Given the description of an element on the screen output the (x, y) to click on. 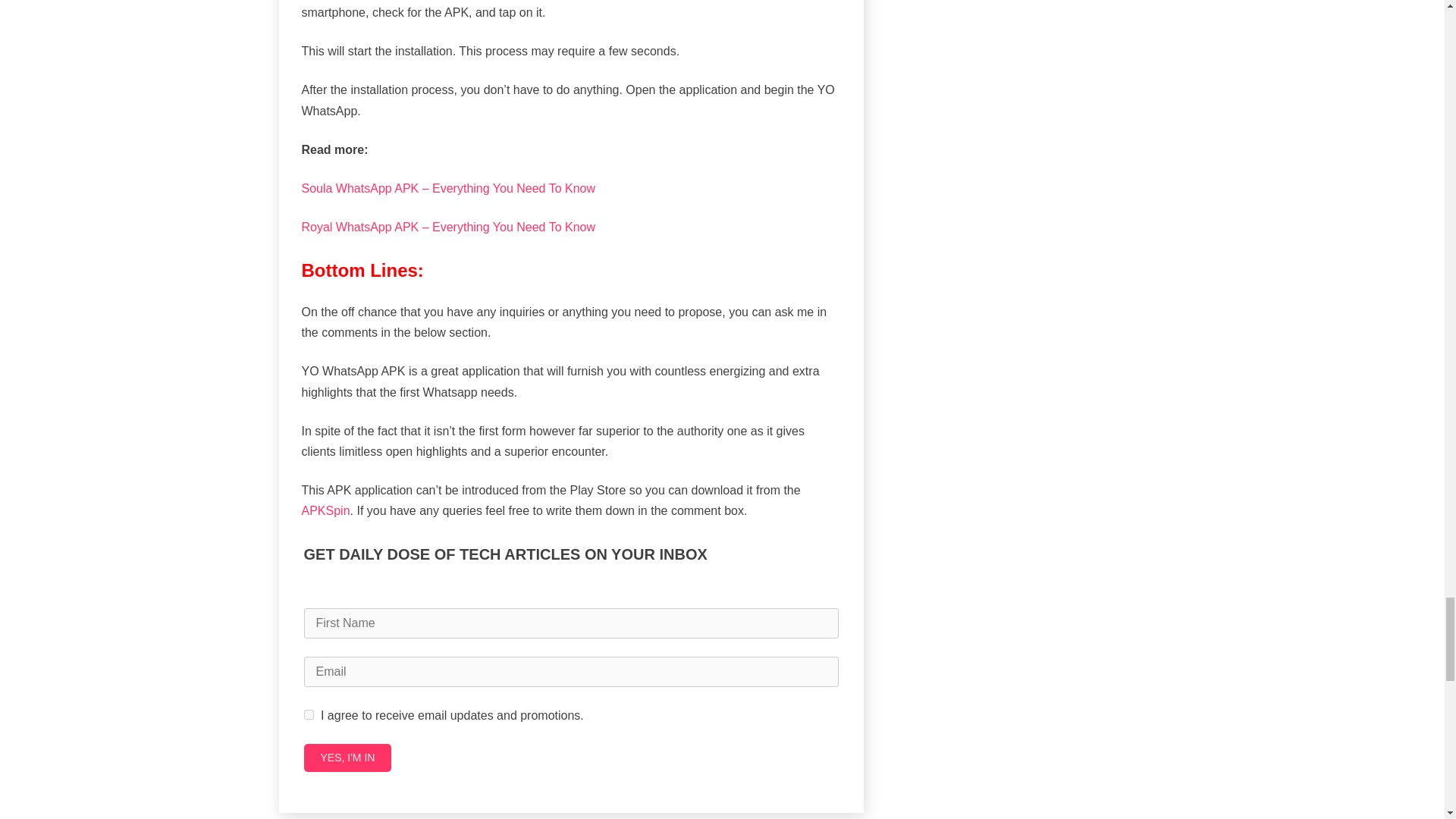
1 (307, 714)
APKSpin (325, 510)
